Given the description of an element on the screen output the (x, y) to click on. 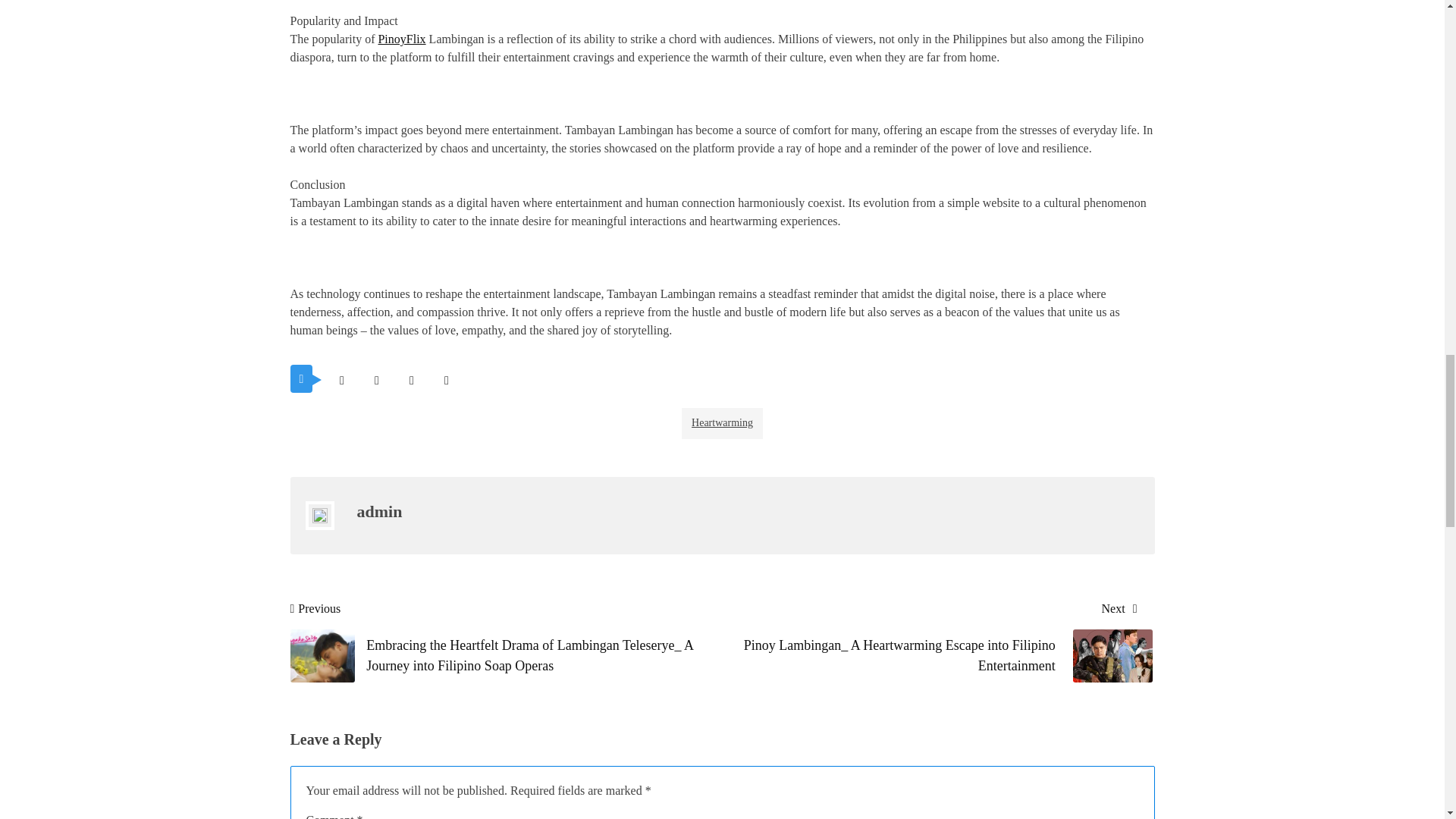
Share on Linkedin (446, 379)
Share on Pinterest (411, 379)
Share on Facebook (376, 379)
Tweet This! (342, 379)
